Given the description of an element on the screen output the (x, y) to click on. 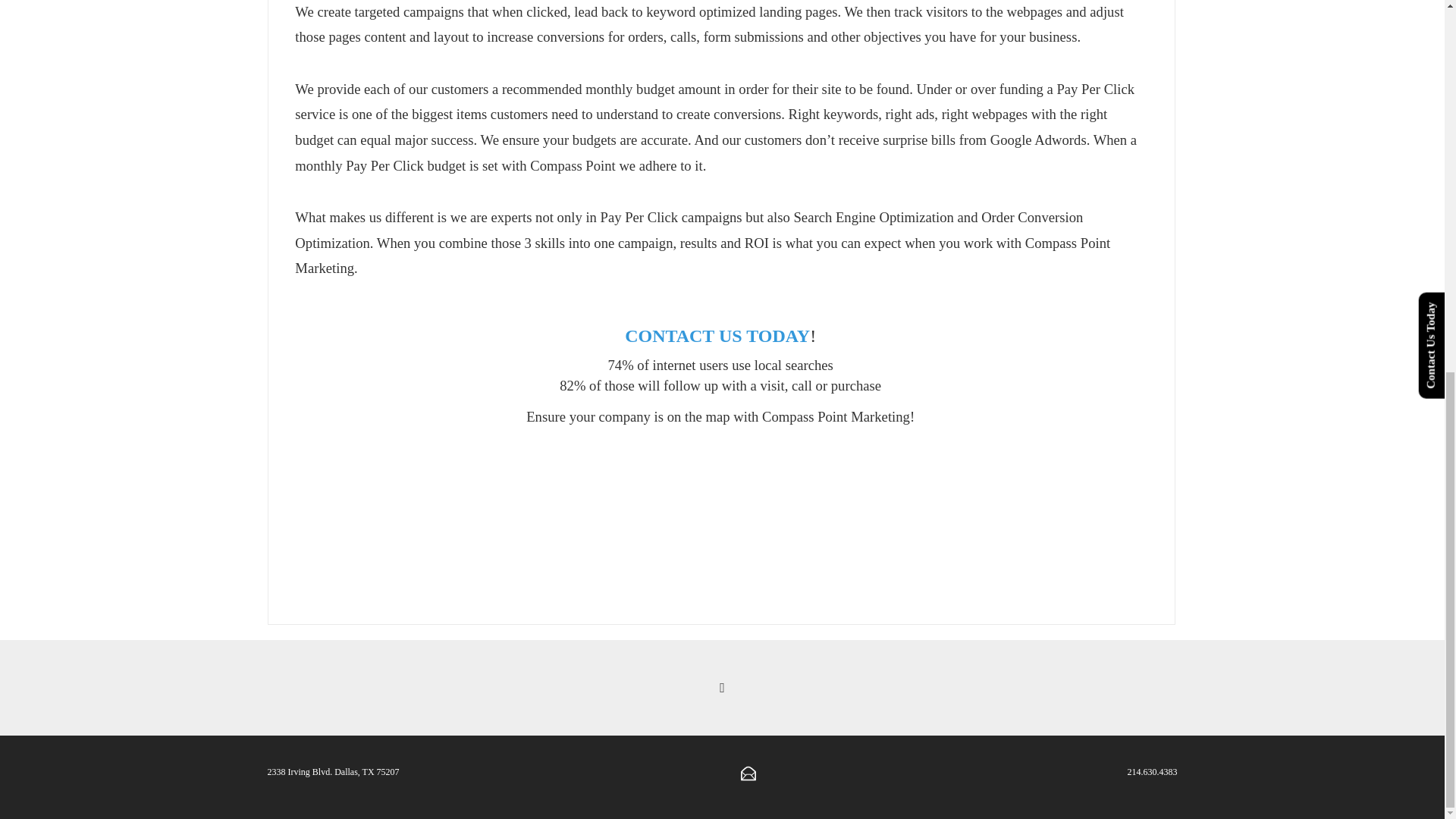
CONTACT US TODAY (716, 335)
YouTube (721, 688)
